Given the description of an element on the screen output the (x, y) to click on. 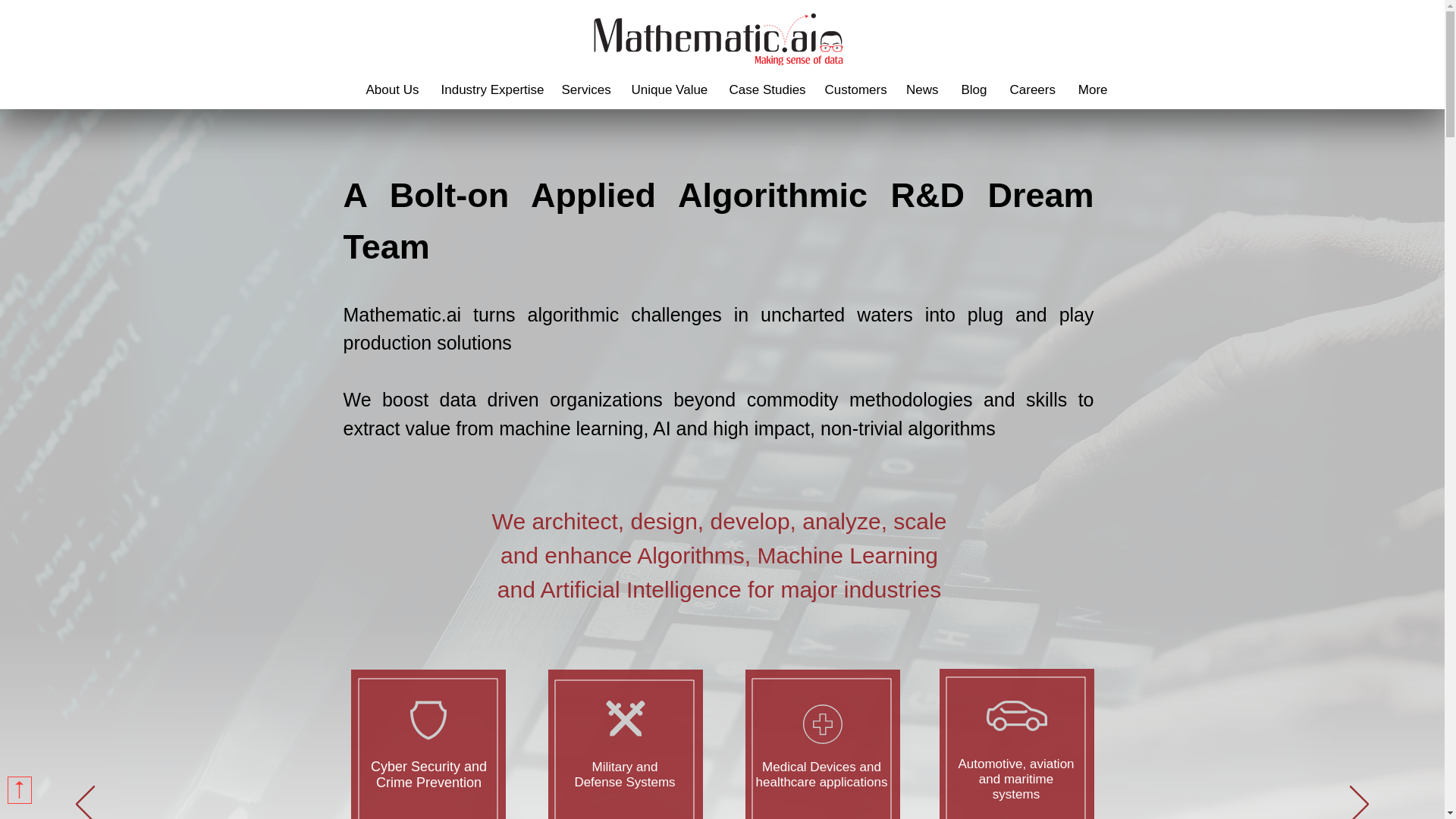
Case Studies (764, 89)
Unique Value (668, 89)
Industry Expertise (489, 89)
About Us (392, 89)
Blog (973, 89)
Services (585, 89)
Careers (1031, 89)
Customers (852, 89)
News (922, 89)
